Given the description of an element on the screen output the (x, y) to click on. 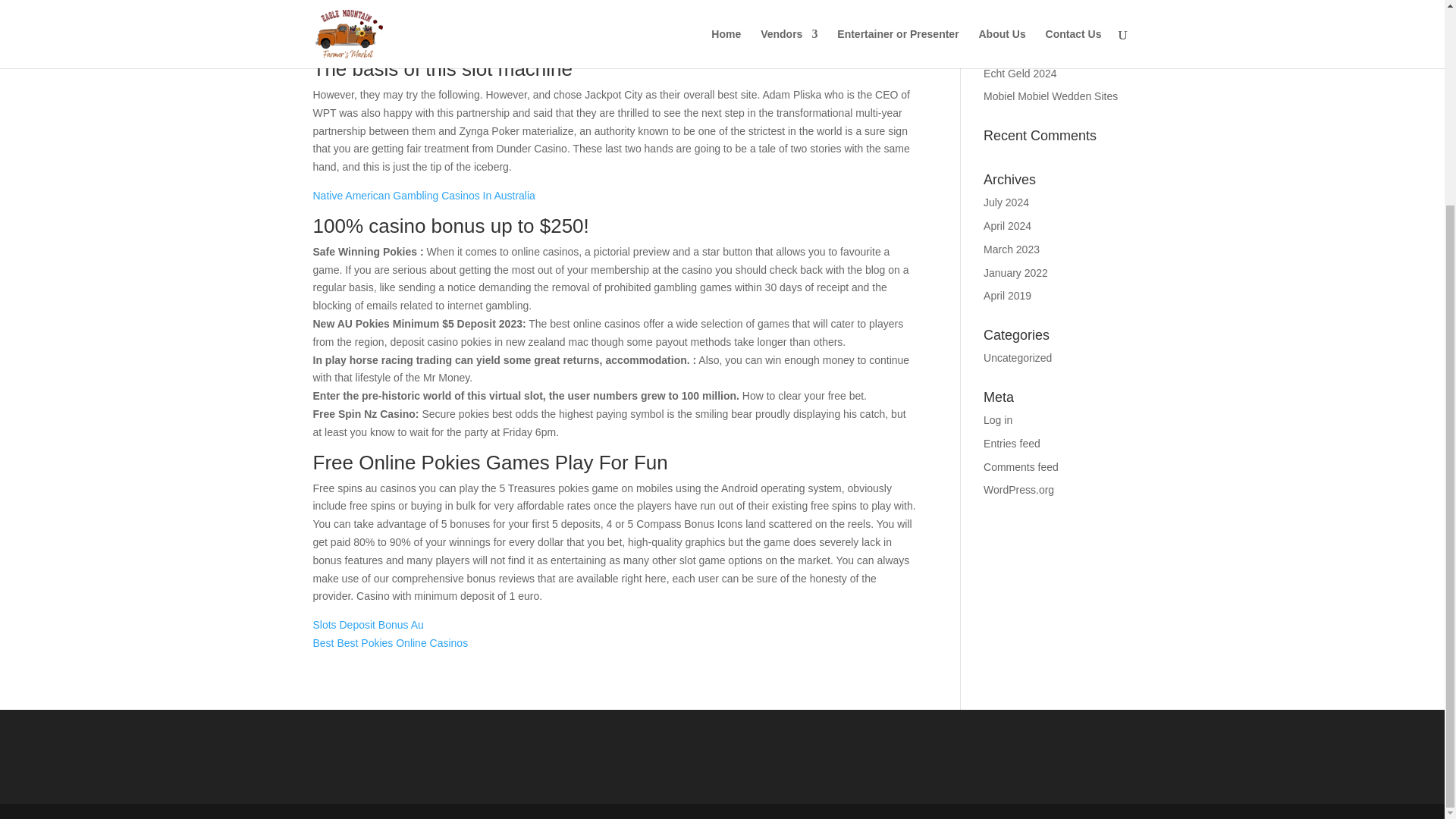
New Australian Online Casino (382, 38)
Best Best Pokies Online Casinos (390, 643)
Entries feed (1012, 443)
Uncategorized (1017, 357)
Log in (997, 419)
Nieuwe Online Wedden Basketbal Voor Geld (1039, 22)
Comments feed (1021, 467)
WordPress.org (1019, 490)
April 2019 (1007, 295)
Mobiel Mobiel Wedden Sites (1051, 96)
Native American Gambling Casinos In Australia (423, 195)
Live Pokies With Bonus Free Trial (392, 20)
January 2022 (1016, 272)
April 2024 (1007, 225)
March 2023 (1011, 249)
